Given the description of an element on the screen output the (x, y) to click on. 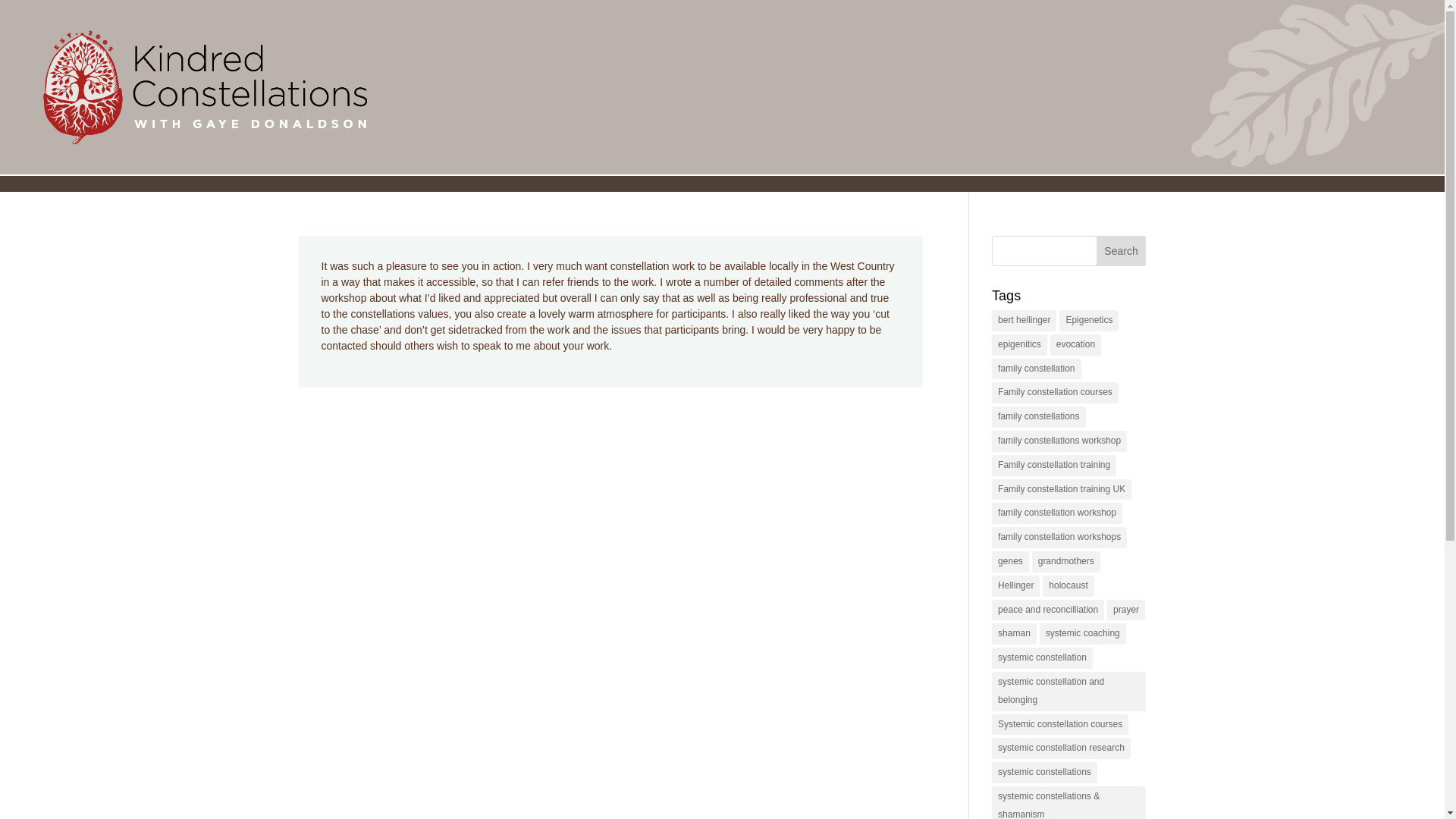
family constellations workshop (1058, 441)
family constellations (1037, 416)
kindredlogo (204, 87)
Search (1121, 250)
evocation (1074, 344)
bert hellinger (1024, 320)
Search (1121, 250)
Family constellation courses (1054, 392)
family constellation workshop (1056, 513)
Epigenetics (1088, 320)
family constellation (1035, 369)
epigenitics (1018, 344)
Family constellation training UK (1061, 489)
Family constellation training (1053, 465)
